Given the description of an element on the screen output the (x, y) to click on. 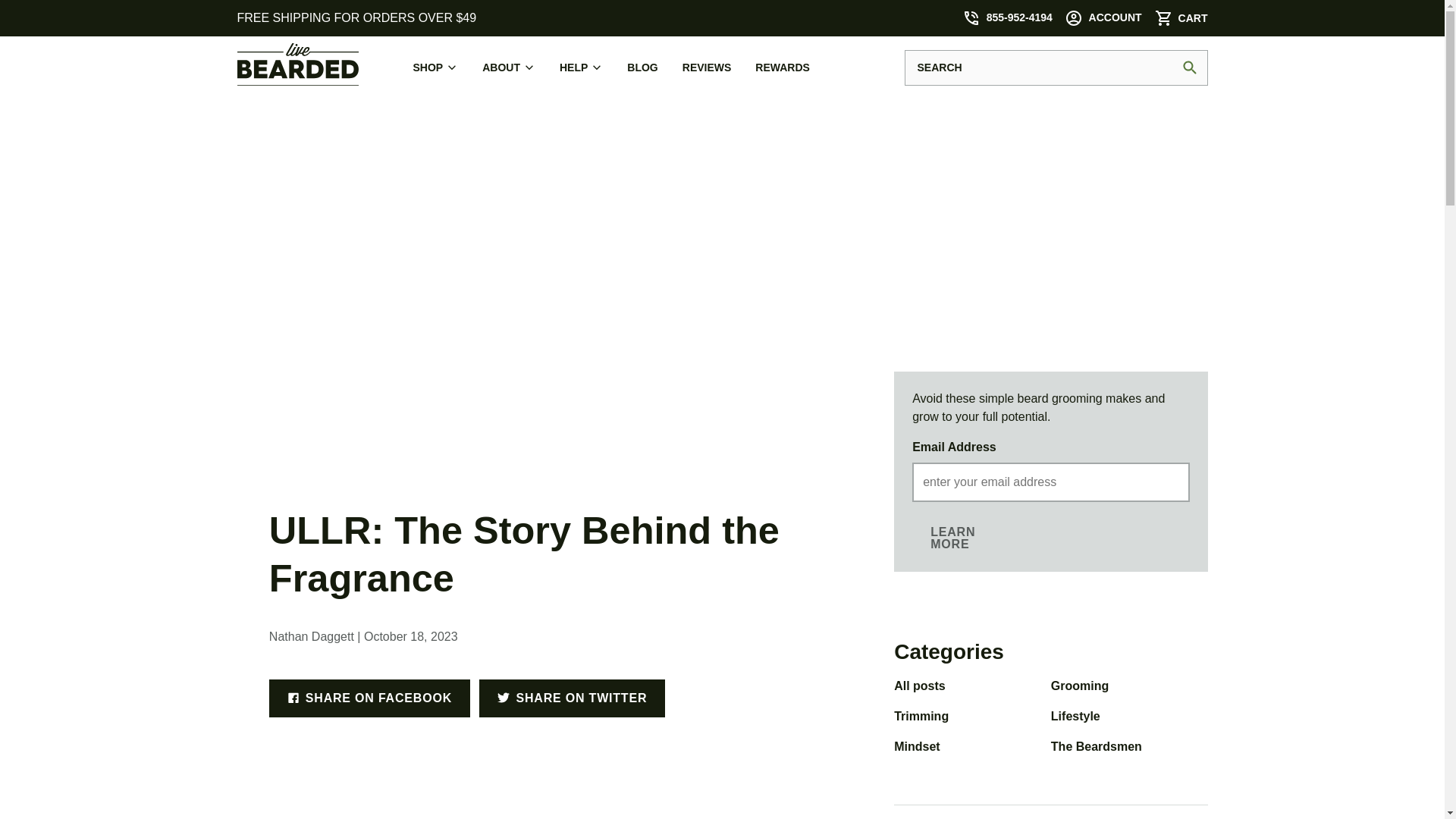
SHOP (435, 67)
YouTube video player (544, 807)
ACCOUNT (1103, 17)
CART (1178, 18)
ABOUT (508, 67)
855-952-4194 (1007, 17)
